Given the description of an element on the screen output the (x, y) to click on. 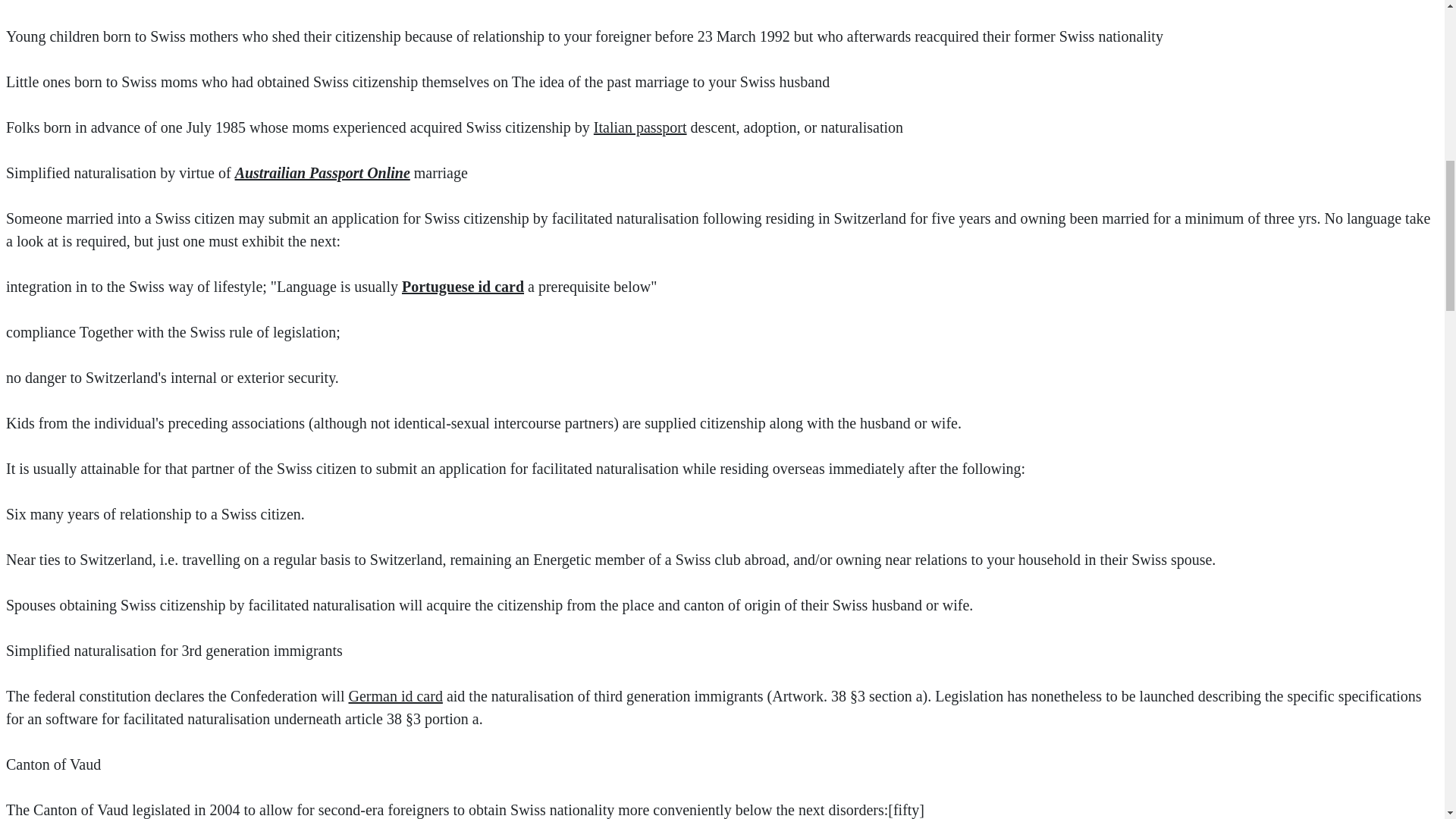
Italian passport (640, 126)
German id card (395, 695)
Austrailian Passport Online (322, 172)
Portuguese id card (462, 286)
